Given the description of an element on the screen output the (x, y) to click on. 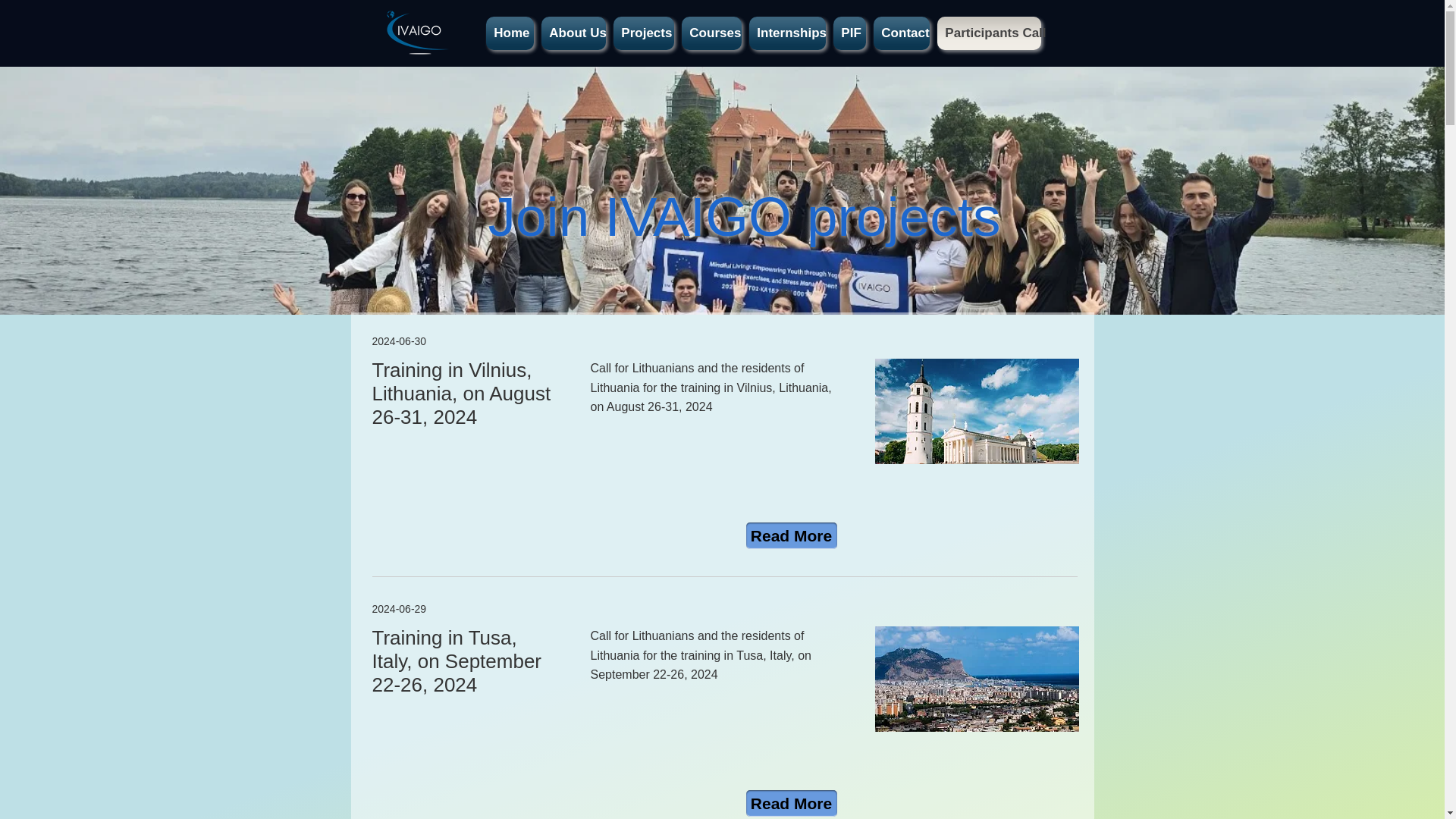
Participants Call (989, 32)
Internships (787, 32)
Read More (791, 803)
Courses (711, 32)
Home (511, 32)
Read More (791, 535)
About Us (573, 32)
o5xr5zigetssqqvd3yhp.jpg (976, 679)
Projects (644, 32)
PIF (849, 32)
